Given the description of an element on the screen output the (x, y) to click on. 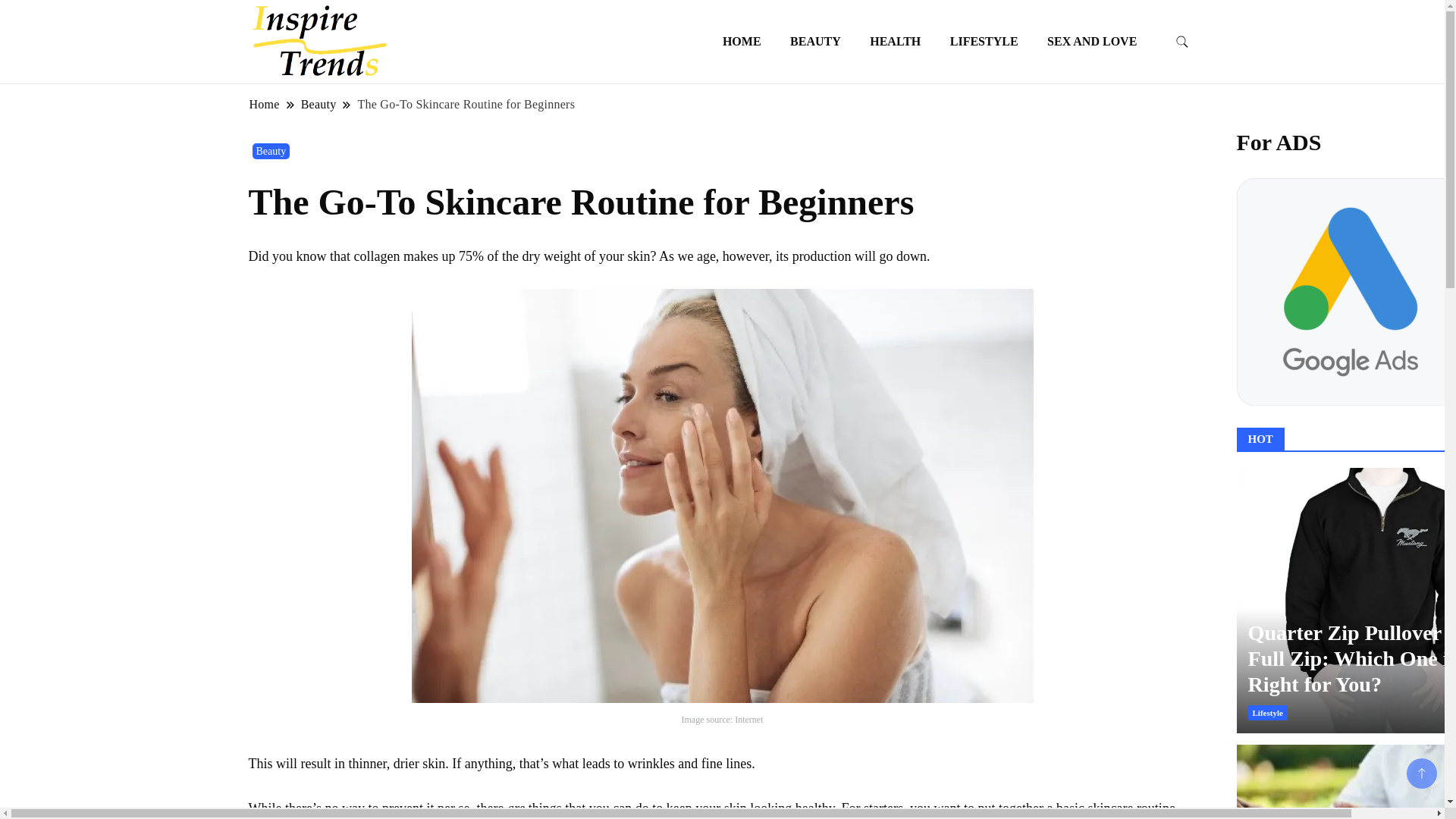
Home (264, 104)
Inspire Trends (456, 58)
Beauty (270, 150)
BEAUTY (815, 41)
HEALTH (895, 41)
HOME (742, 41)
The Go-To Skincare Routine for Beginners (465, 104)
SEX AND LOVE (1091, 41)
Beauty (318, 104)
